Given the description of an element on the screen output the (x, y) to click on. 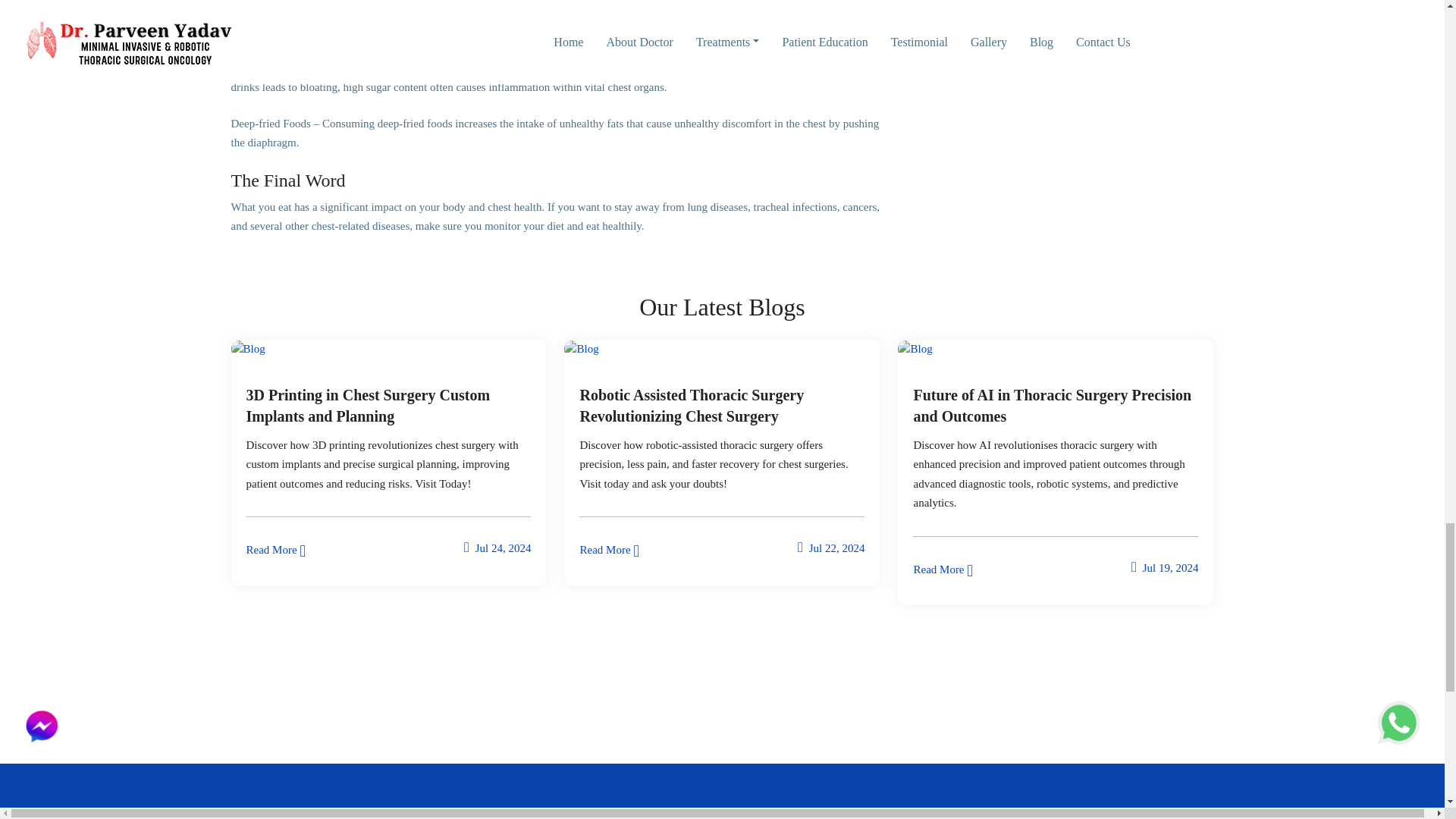
Read More (275, 548)
3D Printing in Chest Surgery Custom Implants and Planning (388, 405)
